Given the description of an element on the screen output the (x, y) to click on. 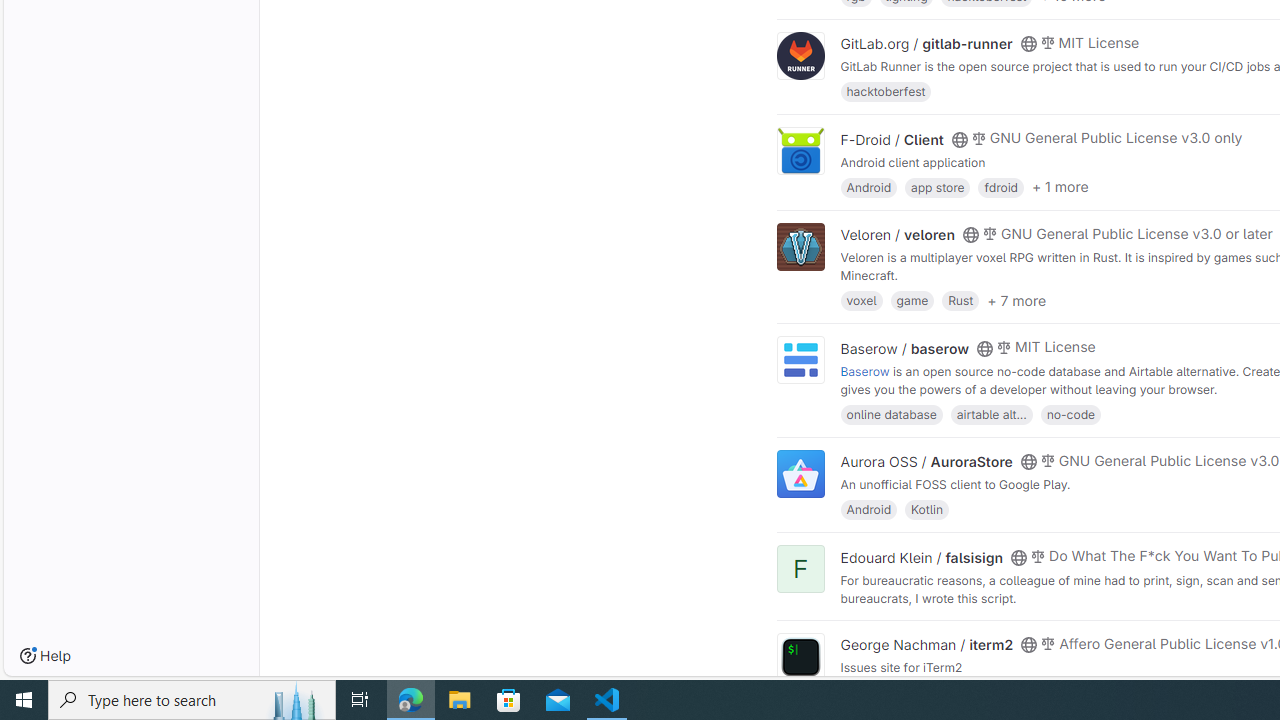
Class: s14 gl-mr-2 (1048, 642)
+ 7 more (1016, 300)
Help (45, 655)
Class: s16 (1029, 645)
no-code (1069, 413)
Aurora OSS / AuroraStore (925, 461)
GitLab.org / gitlab-runner (925, 44)
online database (891, 413)
voxel (861, 300)
Class: project (800, 656)
Veloren / veloren (897, 235)
